Given the description of an element on the screen output the (x, y) to click on. 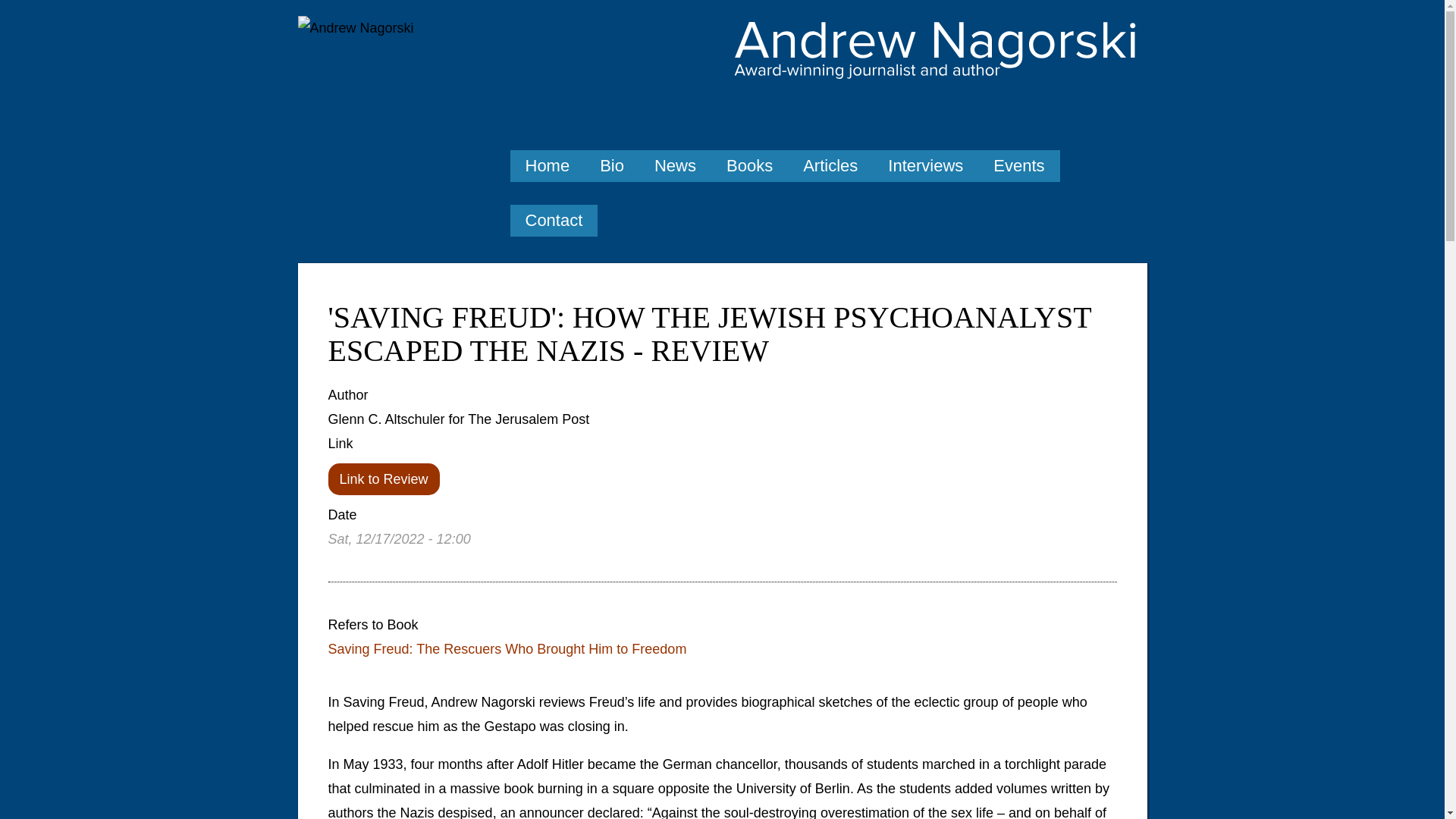
Home (547, 165)
Events (1018, 165)
Bio (612, 165)
X (1096, 115)
Saving Freud: The Rescuers Who Brought Him to Freedom (506, 648)
Twitter (1096, 115)
Facebook (1131, 115)
Link to Review (383, 479)
Contact (552, 220)
